Given the description of an element on the screen output the (x, y) to click on. 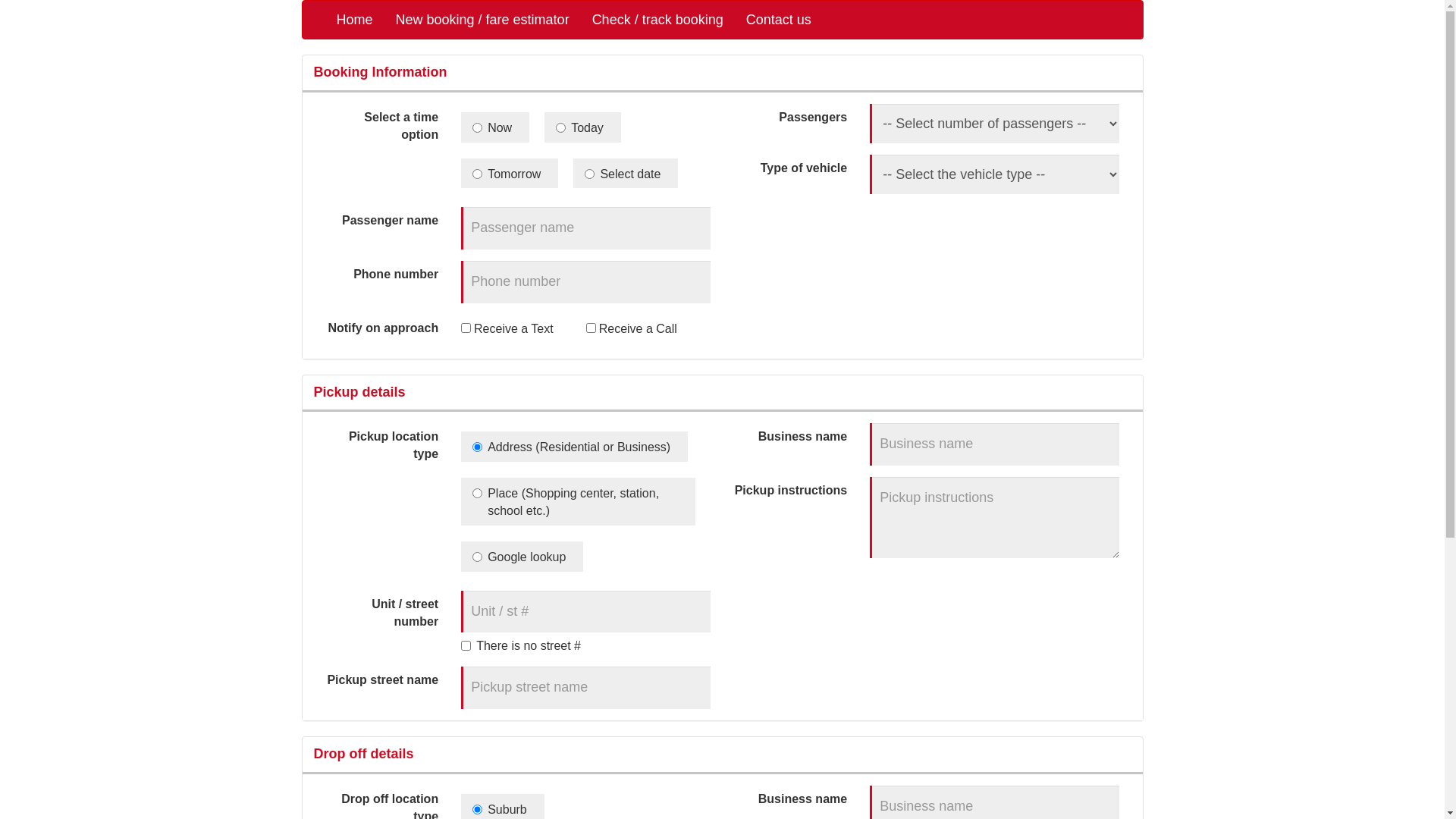
New booking / fare estimator Element type: text (482, 19)
Home Element type: text (353, 19)
Contact us Element type: text (778, 19)
Check / track booking Element type: text (657, 19)
